Given the description of an element on the screen output the (x, y) to click on. 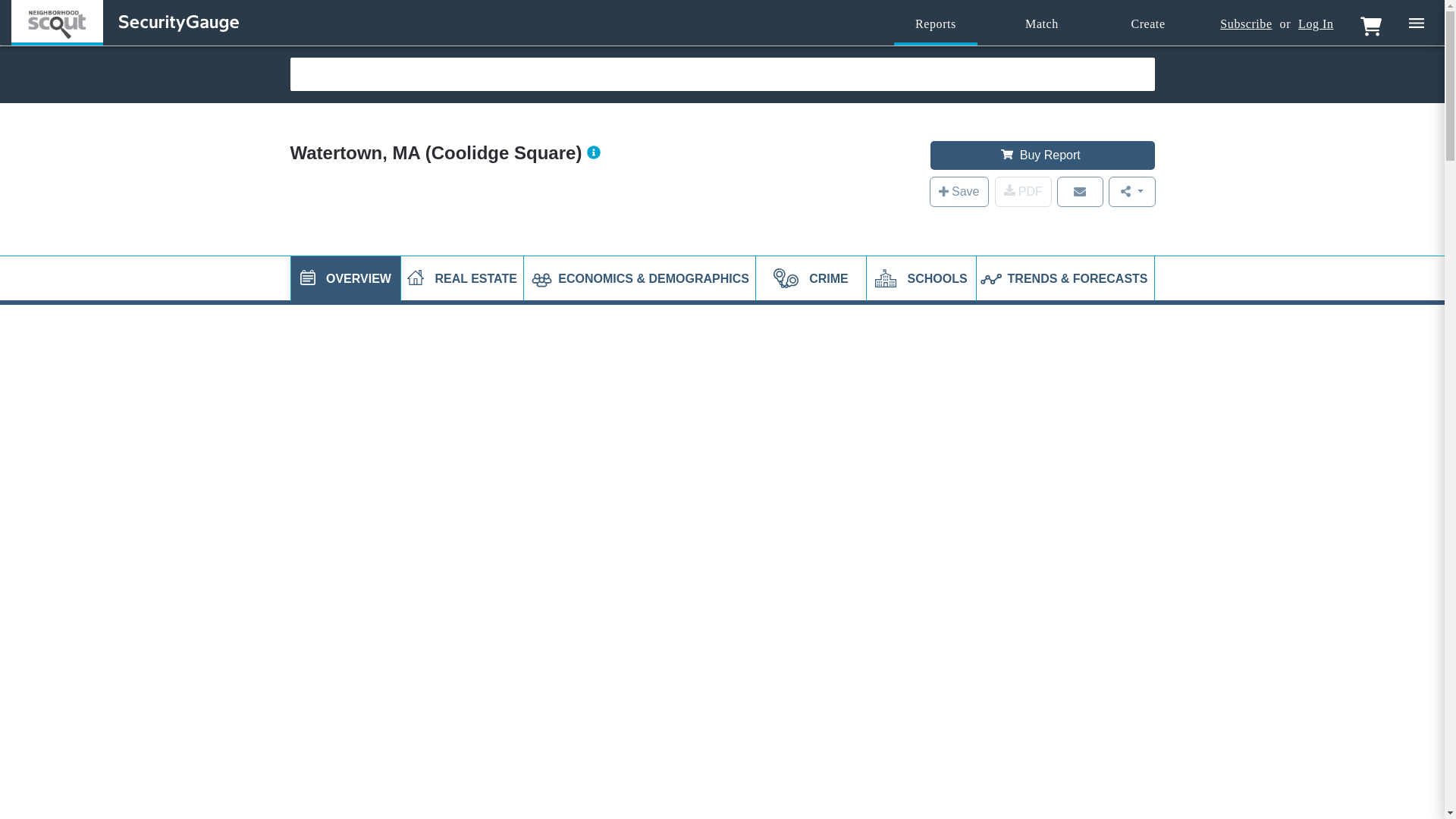
Subscribe (1245, 24)
Create (1147, 24)
Match (1041, 24)
j (307, 277)
Log In (1315, 24)
Reports (934, 24)
